Given the description of an element on the screen output the (x, y) to click on. 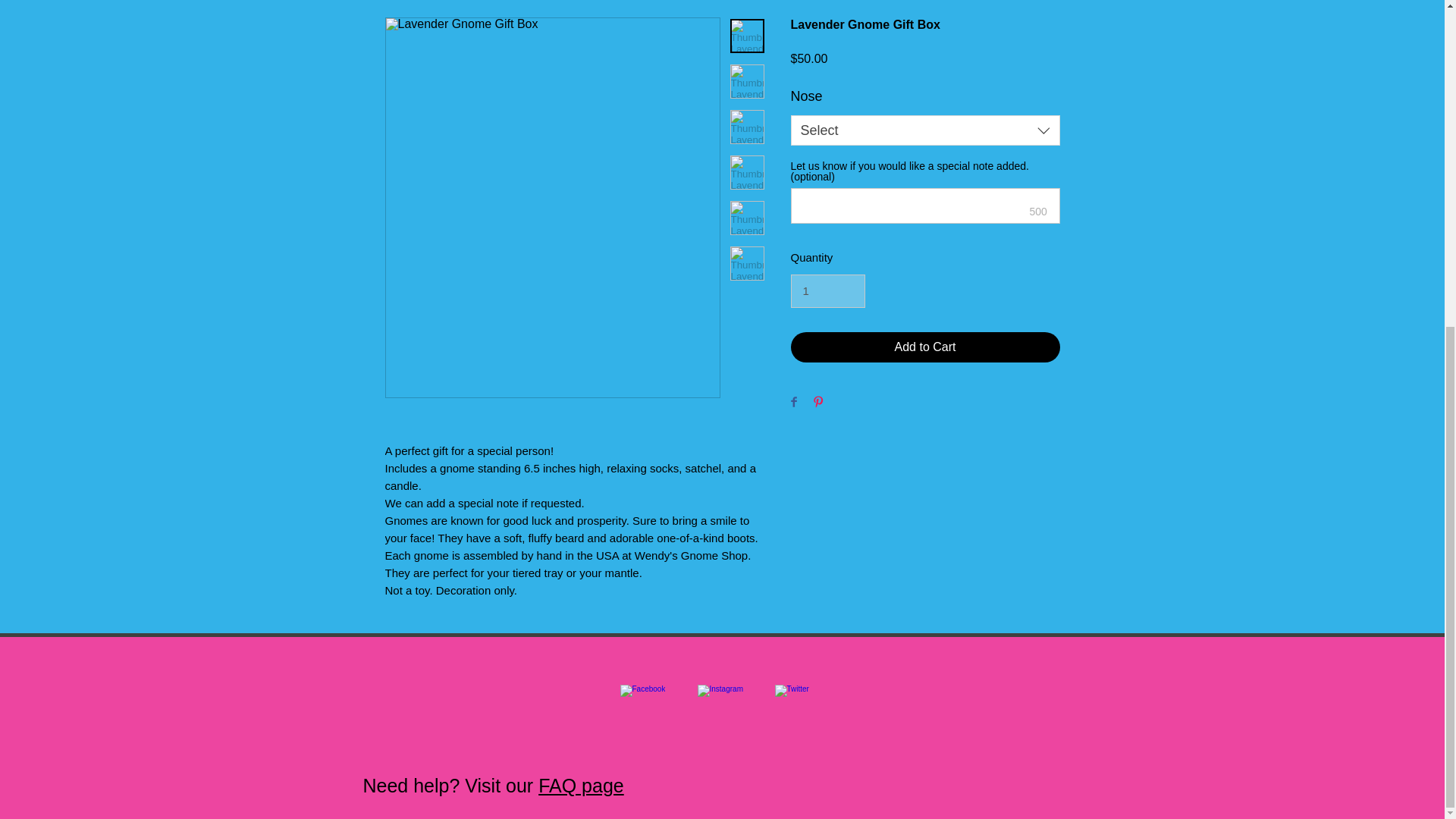
FAQ page (581, 785)
1 (827, 290)
Select (924, 130)
Add to Cart (924, 347)
